Given the description of an element on the screen output the (x, y) to click on. 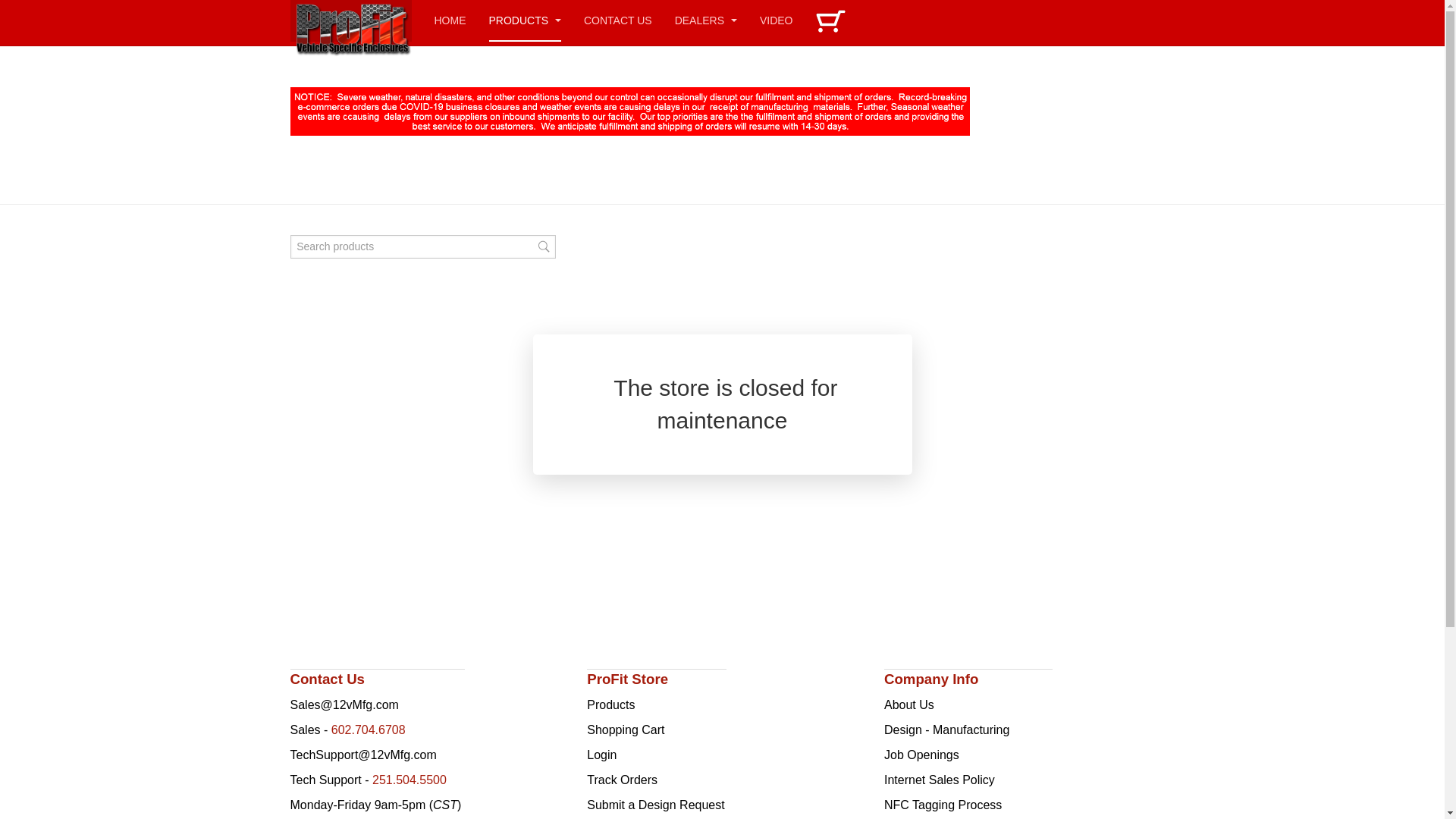
Internet Sales Policy Element type: text (939, 779)
Track Orders Element type: text (621, 779)
About Us Element type: text (909, 704)
251.504.5500 Element type: text (409, 779)
ProFit Sub Enclosures Element type: hover (350, 20)
CONTACT US Element type: text (617, 20)
PRODUCTS Element type: text (524, 20)
VIDEO Element type: text (776, 20)
Login Element type: text (601, 754)
Shopping Cart Element type: text (625, 729)
Design - Manufacturing Element type: text (946, 729)
Submit a Design Request Element type: text (655, 804)
Sales@12vMfg.com Element type: text (343, 704)
DEALERS Element type: text (705, 20)
HOME Element type: text (449, 20)
Job Openings Element type: text (921, 754)
Products Element type: text (610, 704)
TechSupport@12vMfg.com Element type: text (362, 754)
NFC Tagging Process Element type: text (942, 804)
